Given the description of an element on the screen output the (x, y) to click on. 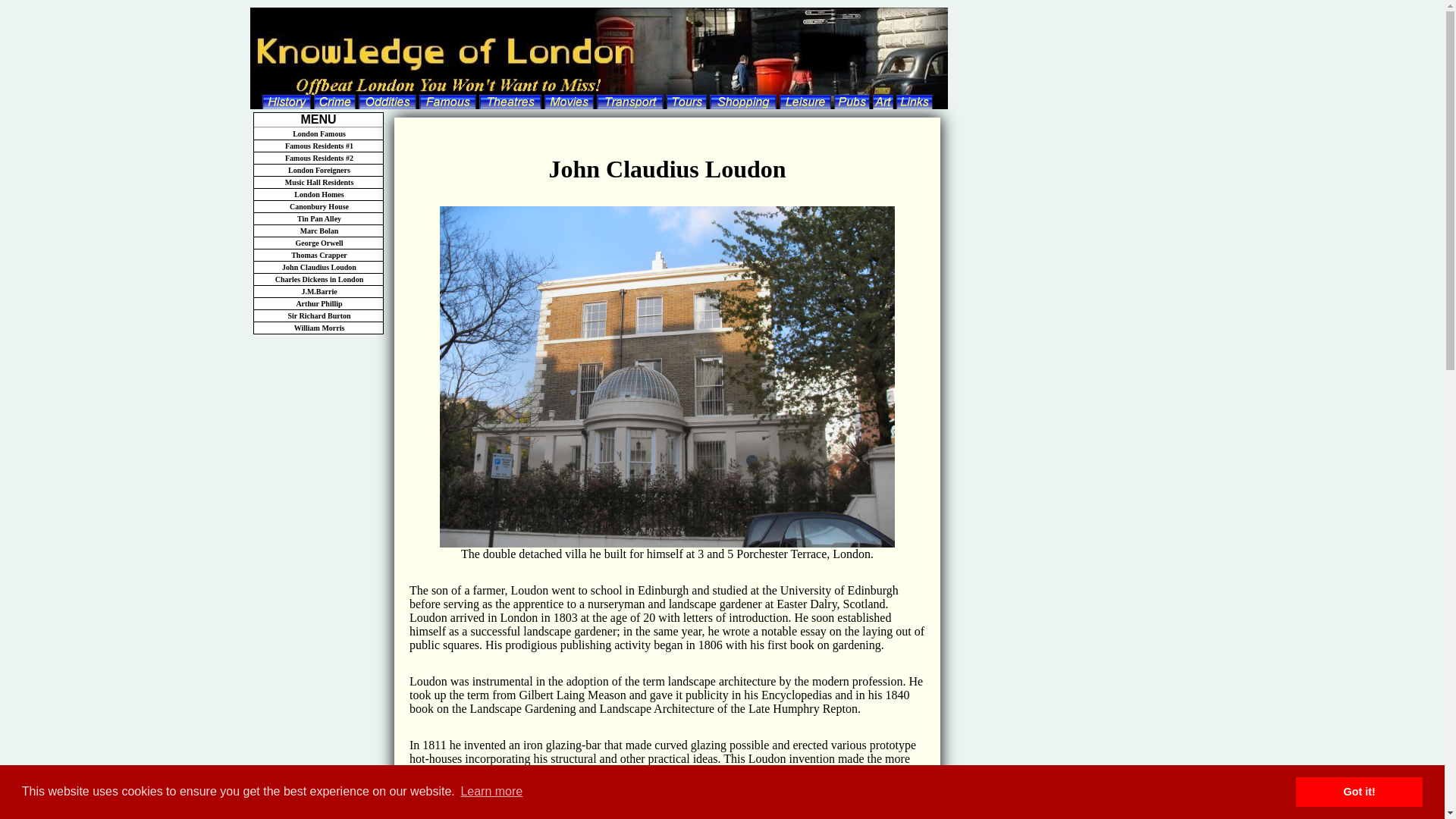
Sir Richard Burton (317, 316)
Charles Dickens in London (317, 279)
Marc Bolan (317, 231)
John Claudius Loudon (317, 267)
Tin Pan Alley (317, 218)
William Morris (317, 328)
Arthur Phillip (317, 304)
George Orwell (317, 243)
London Famous (317, 133)
Canonbury House (317, 206)
Music Hall Residents (317, 182)
London Foreigners (317, 170)
Got it! (1358, 791)
J.M.Barrie (317, 291)
Thomas Crapper (317, 255)
